Given the description of an element on the screen output the (x, y) to click on. 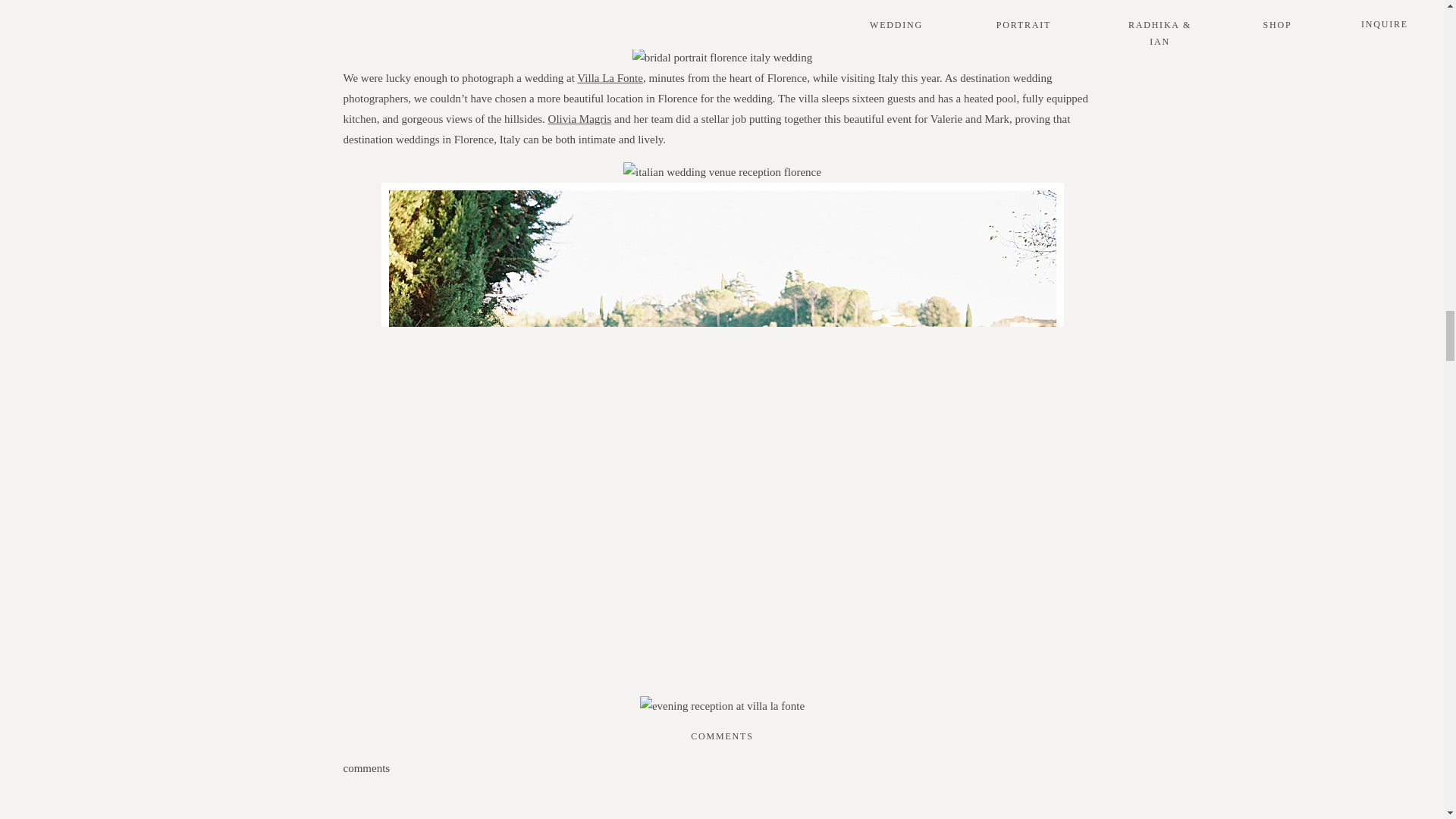
Villa La Fonte (609, 78)
Olivia Magris (579, 119)
